Given the description of an element on the screen output the (x, y) to click on. 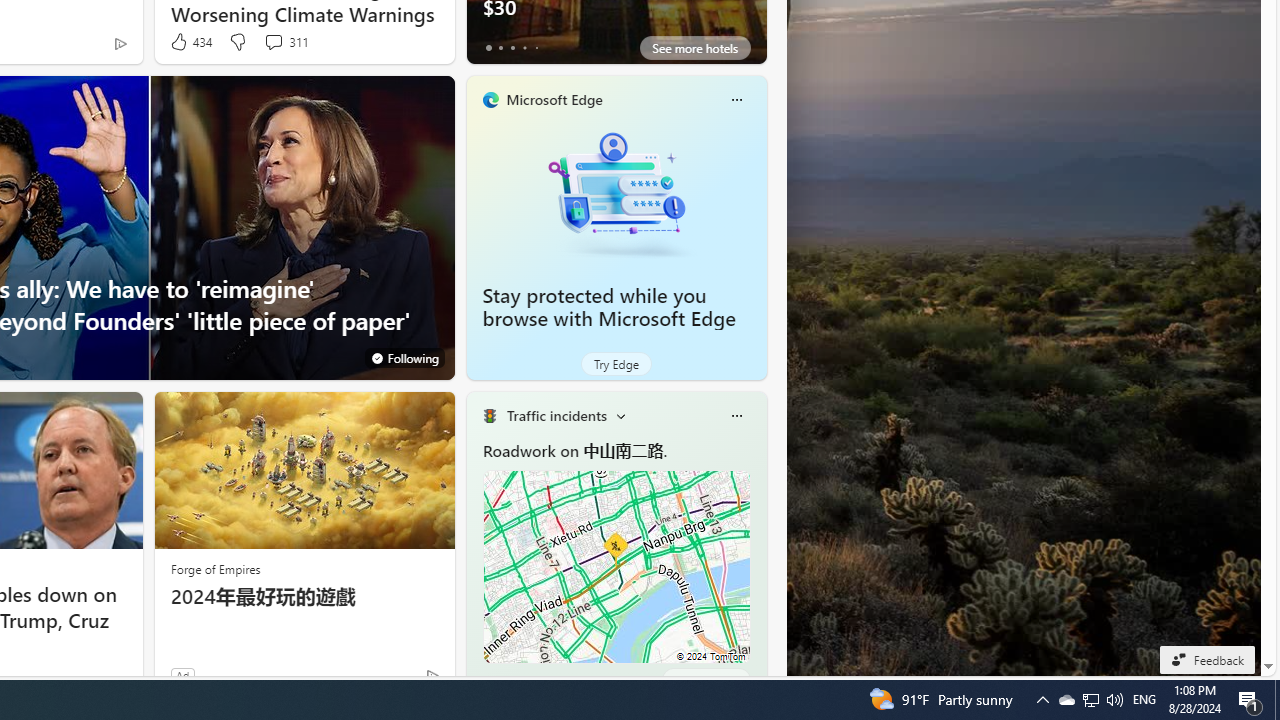
434 Like (190, 42)
Forge of Empires (215, 568)
Change scenarios (620, 415)
Try Edge (616, 363)
tab-0 (488, 679)
You're following FOX News (404, 357)
tab-4 (535, 679)
See on map (705, 679)
View comments 311 Comment (285, 42)
See more hotels (694, 47)
Stay protected while you browse with Microsoft Edge (609, 307)
tab-1 (500, 679)
